Given the description of an element on the screen output the (x, y) to click on. 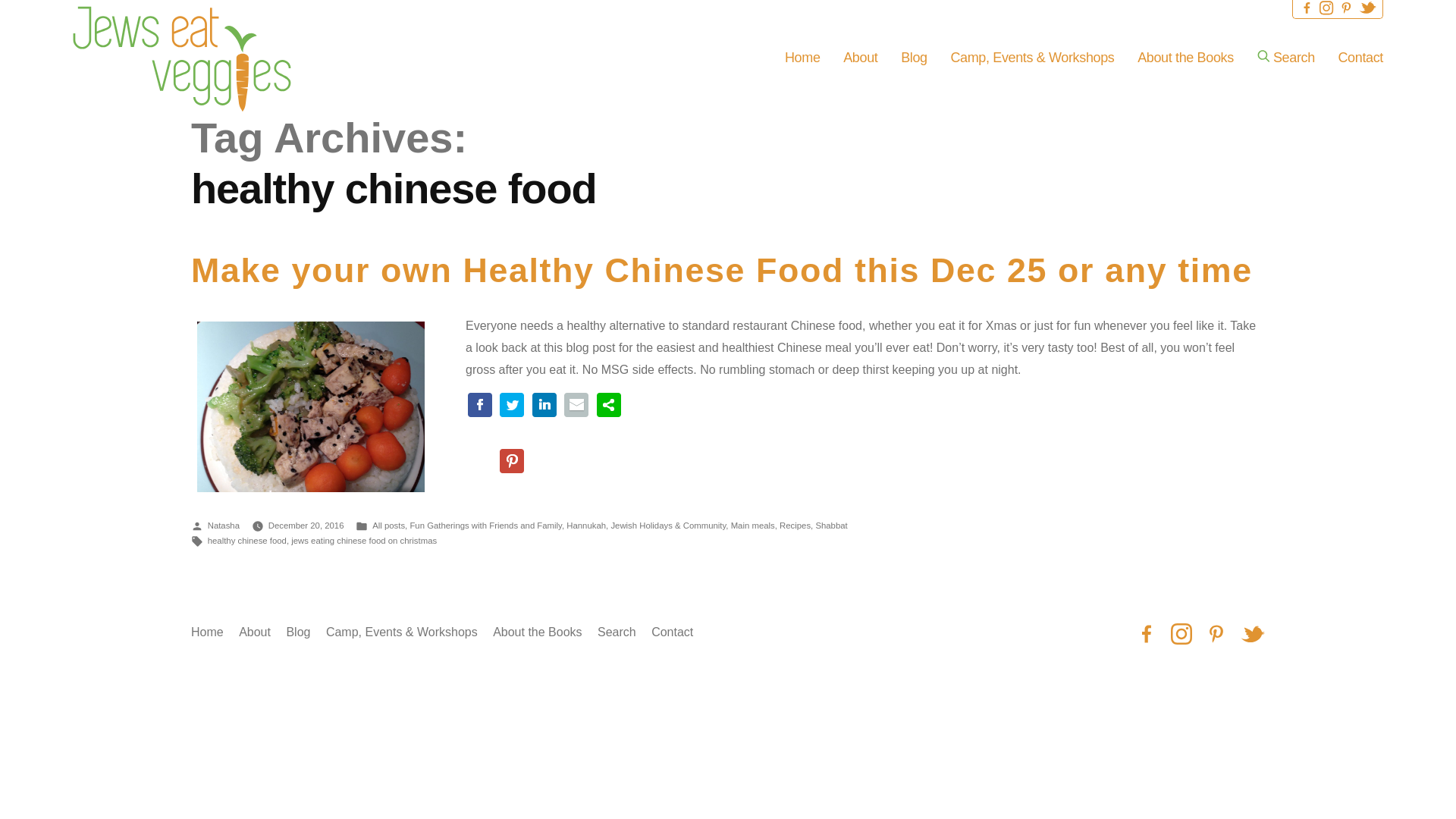
healthy chinese food (247, 540)
Natasha (224, 524)
Pinterest (1346, 7)
Shabbat (831, 524)
Blog (913, 57)
Search (616, 631)
Home (802, 57)
Main meals (752, 524)
About (859, 57)
Twitter (1252, 633)
